Given the description of an element on the screen output the (x, y) to click on. 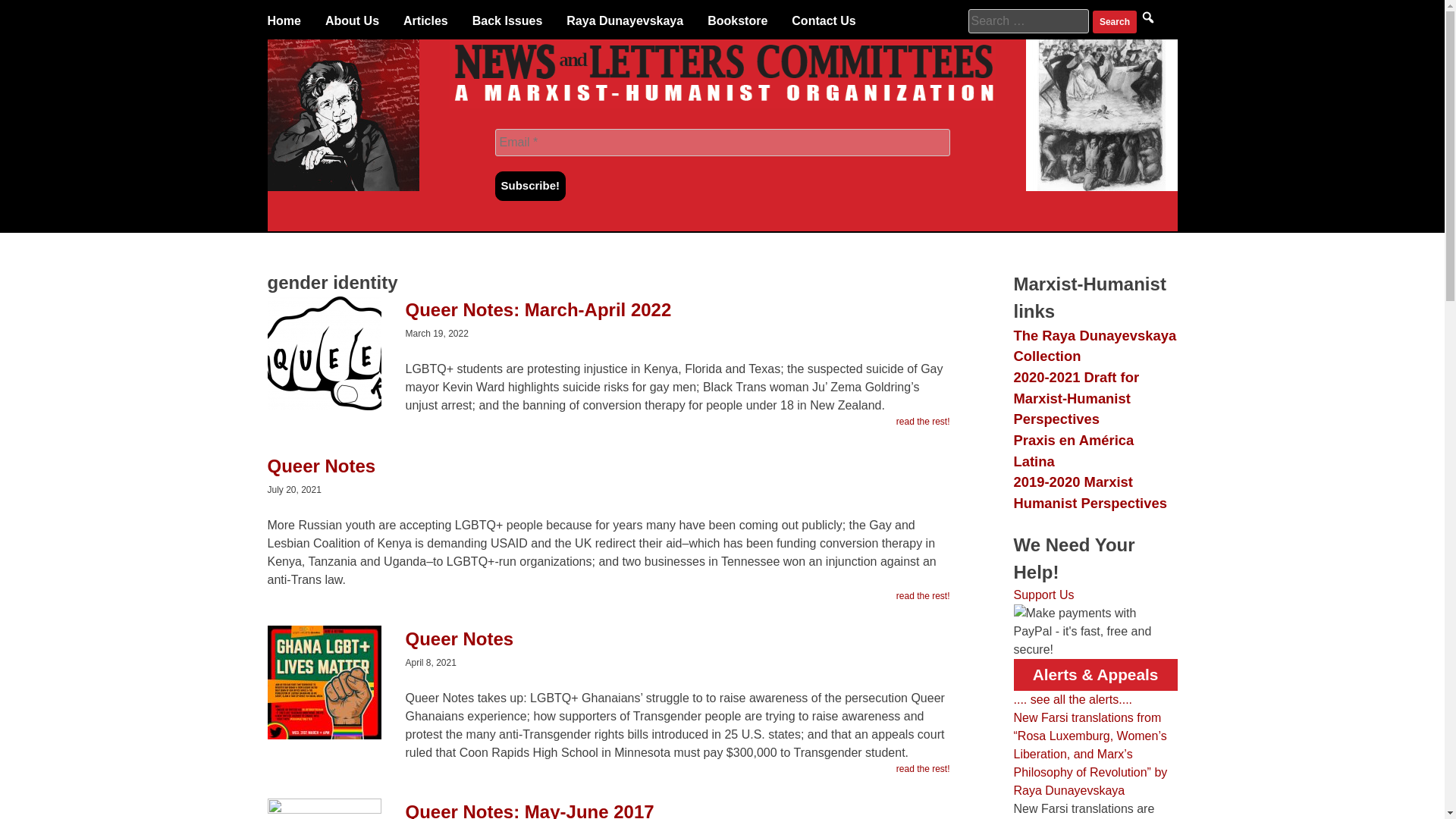
Search (1115, 21)
read the rest! (923, 595)
Home (282, 21)
News and Letters Committees (722, 103)
read the rest! (923, 768)
Articles (425, 21)
Contact Us (824, 21)
2020-2021 Draft for Marxist-Humanist Perspectives (1075, 397)
read the rest! (923, 421)
Search (1115, 21)
